Given the description of an element on the screen output the (x, y) to click on. 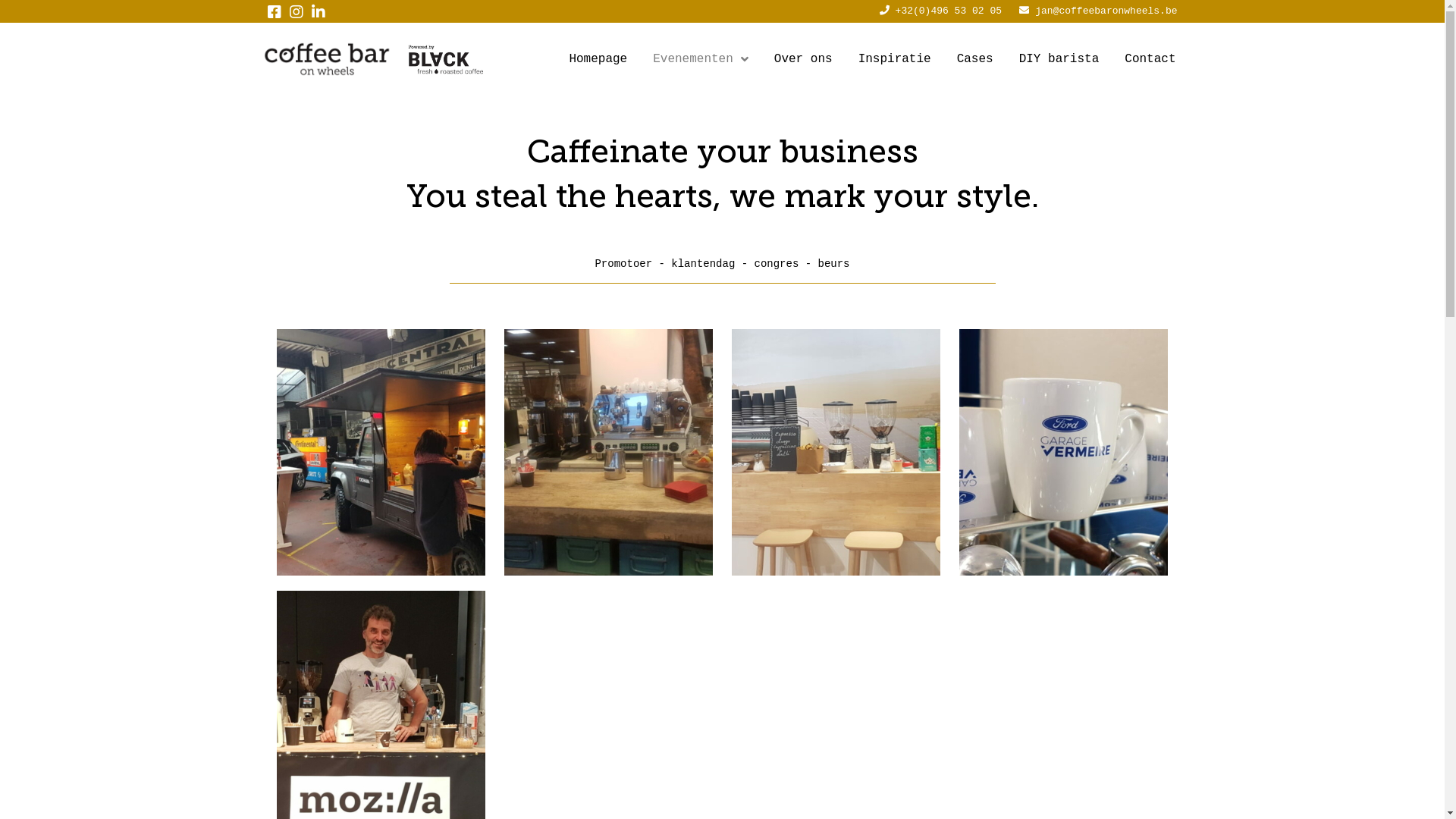
20200108_145127 (2) Element type: hover (380, 452)
Contact Element type: text (1149, 58)
20200116_173125 Element type: hover (836, 452)
Cases Element type: text (975, 58)
jan@coffeebaronwheels.be Element type: text (1105, 10)
+32(0)496 53 02 05 Element type: text (948, 10)
Inspiratie Element type: text (894, 58)
Over ons Element type: text (803, 58)
20170421_124504 Element type: hover (608, 590)
20170505_123936 Element type: hover (835, 590)
20200108_145127 (2) Element type: hover (381, 452)
DIY barista Element type: text (1059, 58)
20200116_173125 Element type: hover (835, 452)
Homepage Element type: text (597, 58)
20200116_153406 Element type: hover (1063, 590)
binnenbar_cornelis Element type: hover (608, 452)
Evenementen Element type: text (700, 58)
20200118_094420 Element type: hover (1063, 452)
20200118_094420 Element type: hover (1063, 452)
binnenbar_cornelis Element type: hover (608, 452)
